Given the description of an element on the screen output the (x, y) to click on. 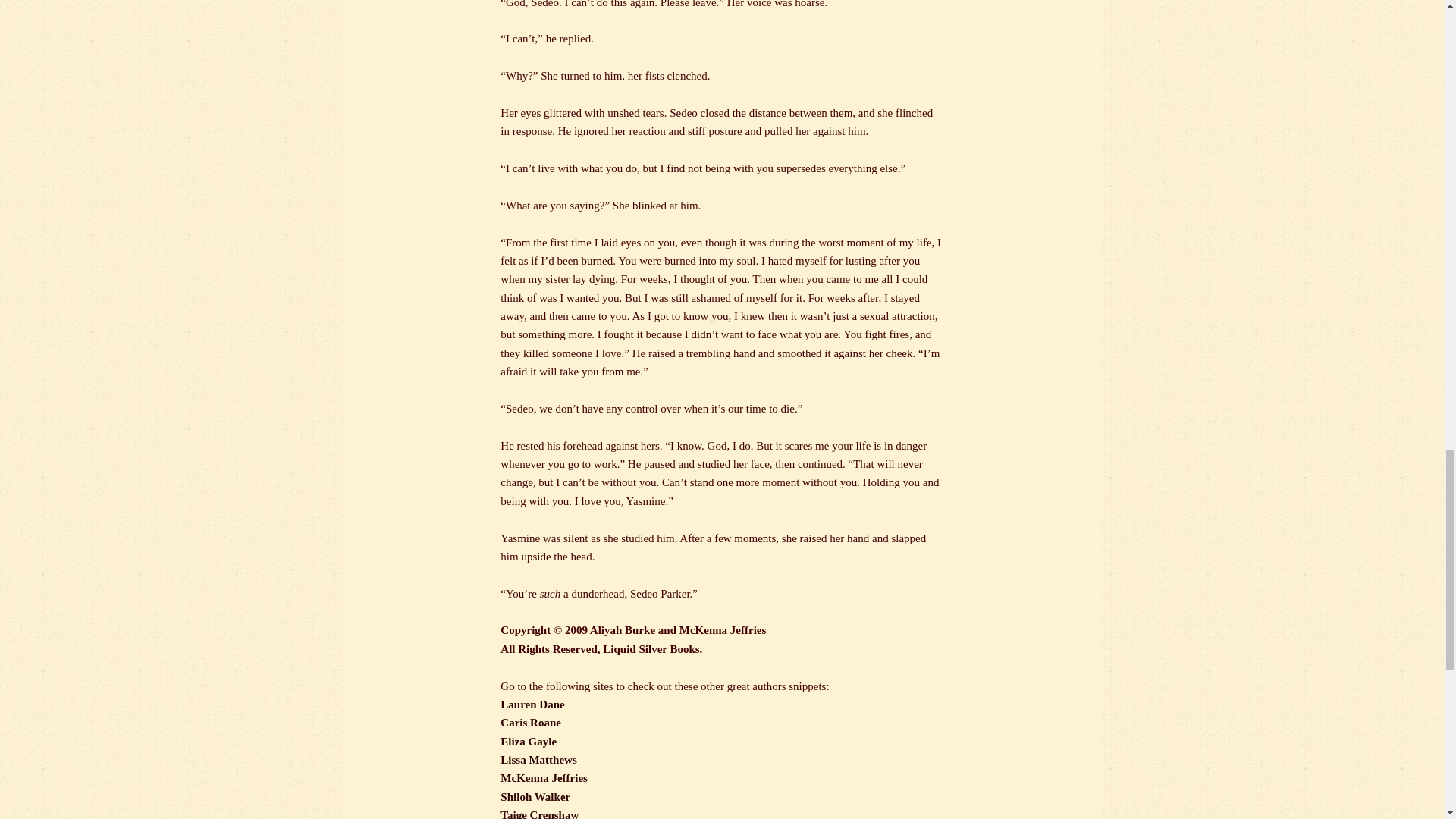
Shiloh Walker (535, 797)
McKenna Jeffries (544, 777)
Eliza Gayle (528, 741)
Caris Roane (530, 722)
Lissa Matthews (538, 759)
Taige Crenshaw (539, 814)
Lauren Dane (532, 704)
